Given the description of an element on the screen output the (x, y) to click on. 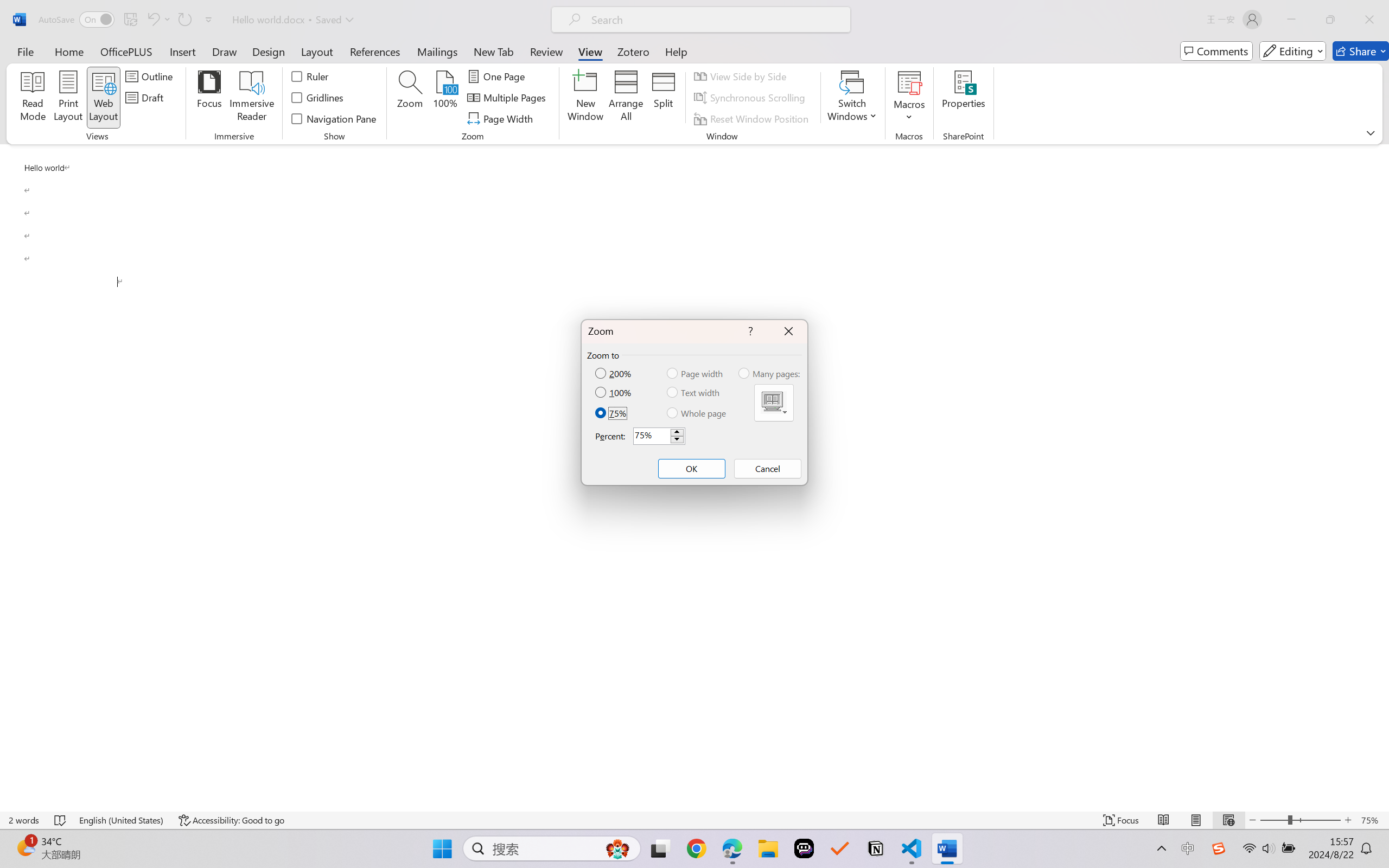
AutomationID: BadgeAnchorLargeTicker (24, 847)
Page Width (501, 118)
Close (1369, 19)
Page width (695, 373)
Zoom Out (1273, 819)
Layout (316, 51)
Zoom... (409, 97)
Mailings (437, 51)
Outline (150, 75)
Zoom (1300, 819)
Web Layout (1228, 819)
